Given the description of an element on the screen output the (x, y) to click on. 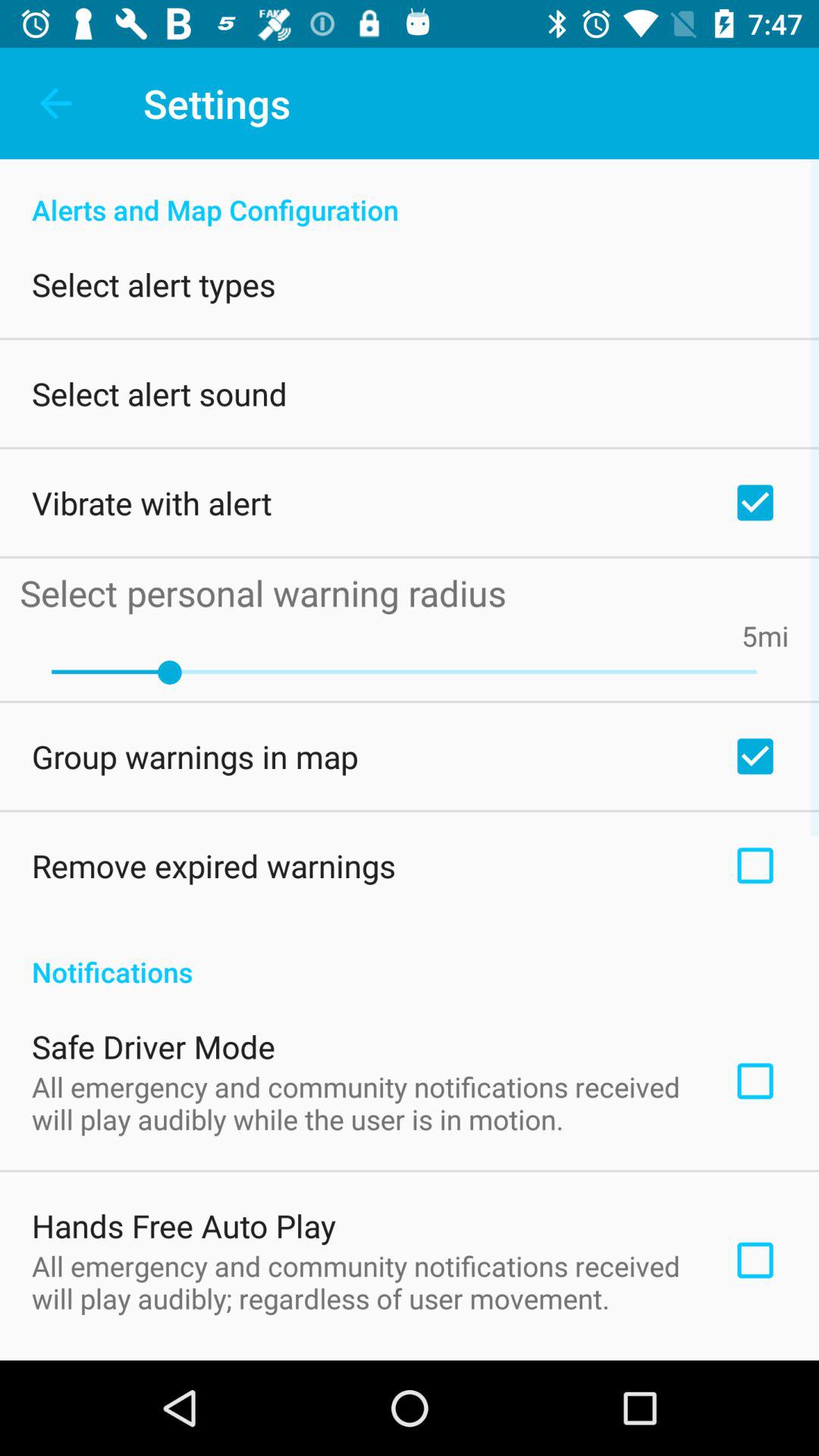
select safe driver mode (153, 1046)
